Given the description of an element on the screen output the (x, y) to click on. 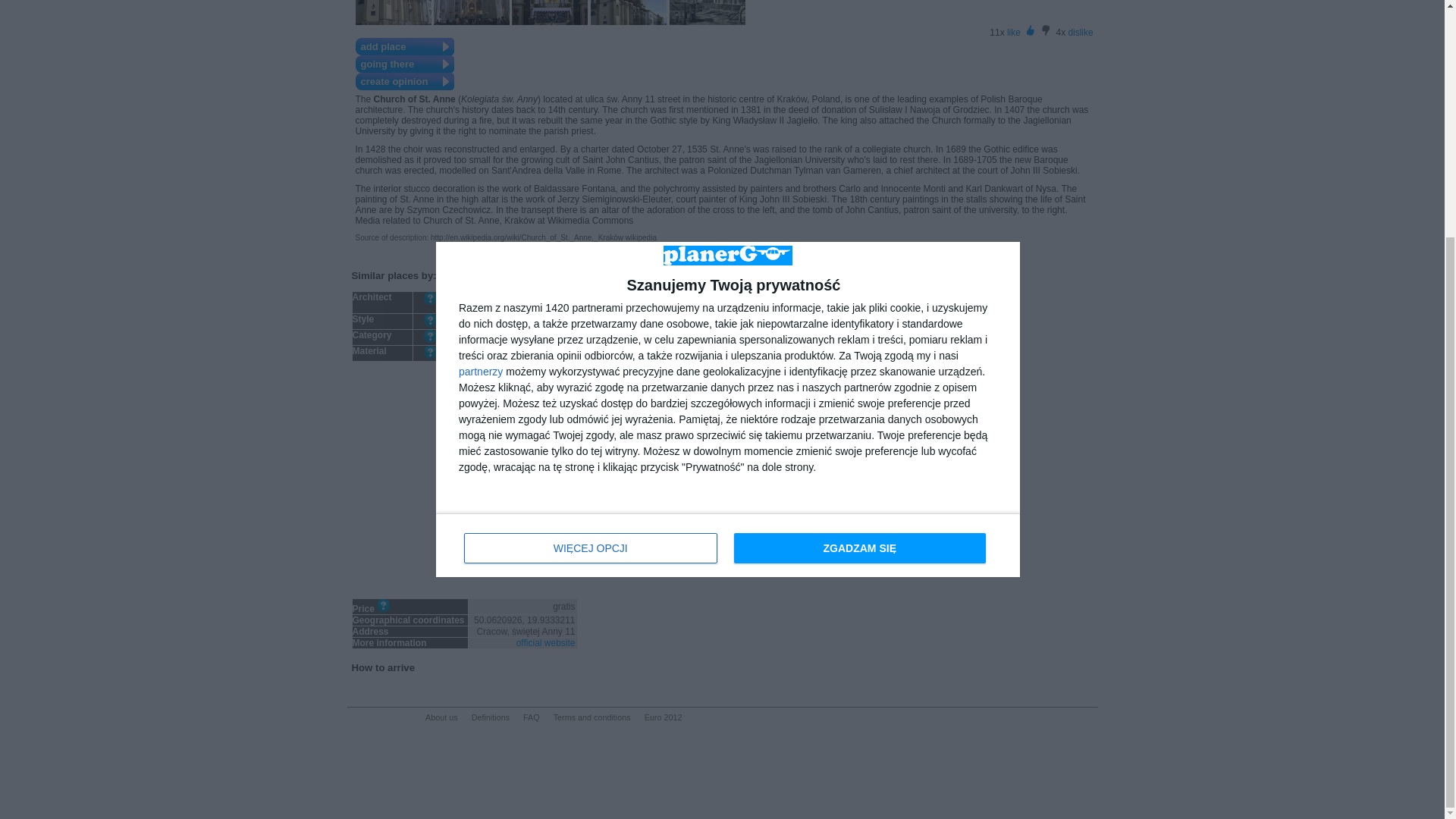
dislike (1080, 32)
create opinion (418, 81)
you did not like it (1045, 30)
you like it (1030, 30)
partnerzy (480, 46)
dislike (1080, 32)
like (1013, 32)
like (1013, 32)
Baldassarre Fontana (532, 307)
going there (418, 63)
Tylman van Gameren (531, 296)
add place (418, 46)
